Given the description of an element on the screen output the (x, y) to click on. 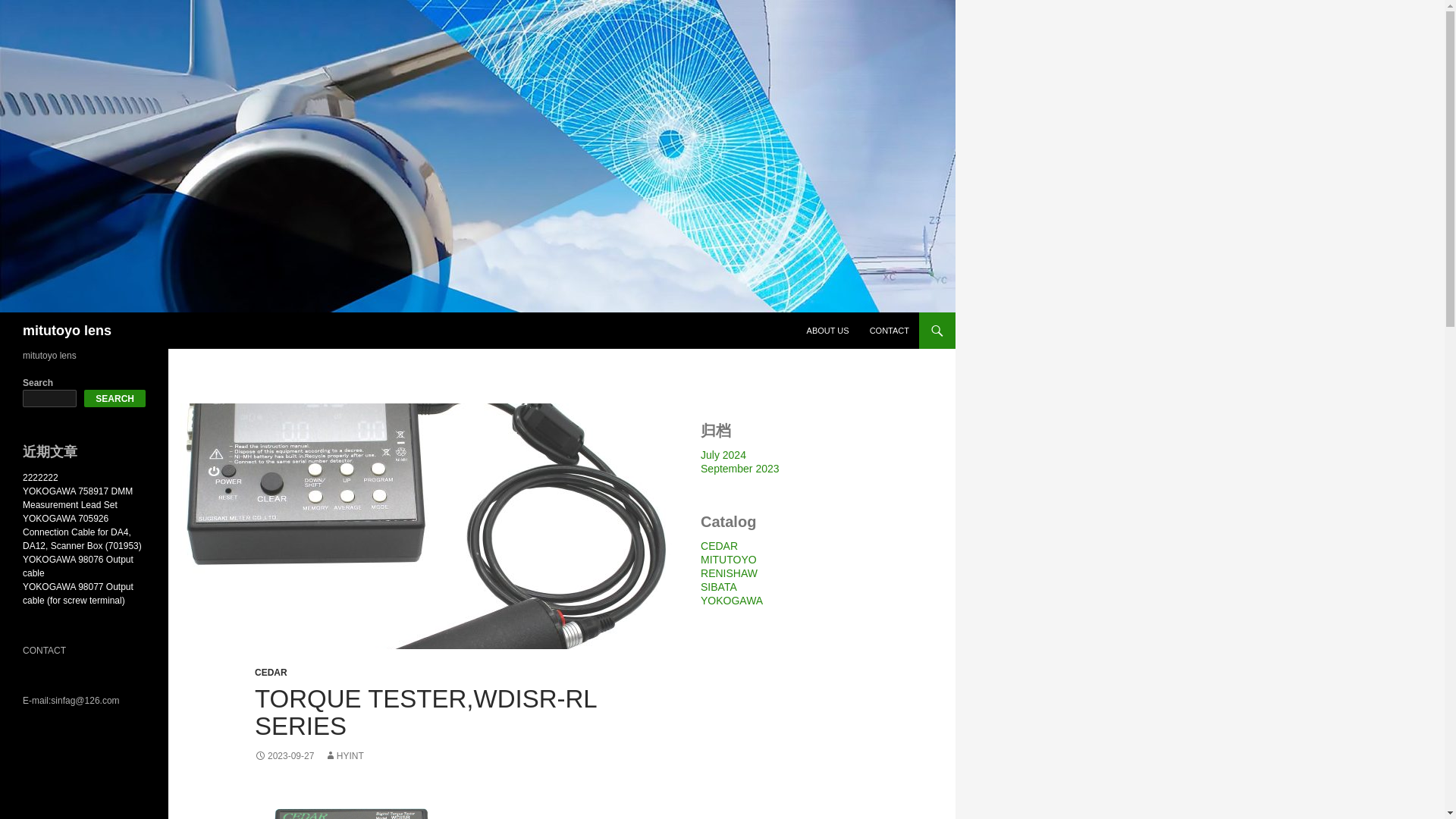
CEDAR (719, 545)
SEARCH (114, 398)
SIBATA (718, 586)
2023-09-27 (284, 756)
mitutoyo lens (67, 330)
ABOUT US (828, 330)
September 2023 (739, 468)
CEDAR (270, 672)
CONTACT (889, 330)
RENISHAW (728, 573)
YOKOGAWA (731, 600)
YOKOGAWA 758917 DMM Measurement Lead Set (77, 498)
HYINT (344, 756)
